Given the description of an element on the screen output the (x, y) to click on. 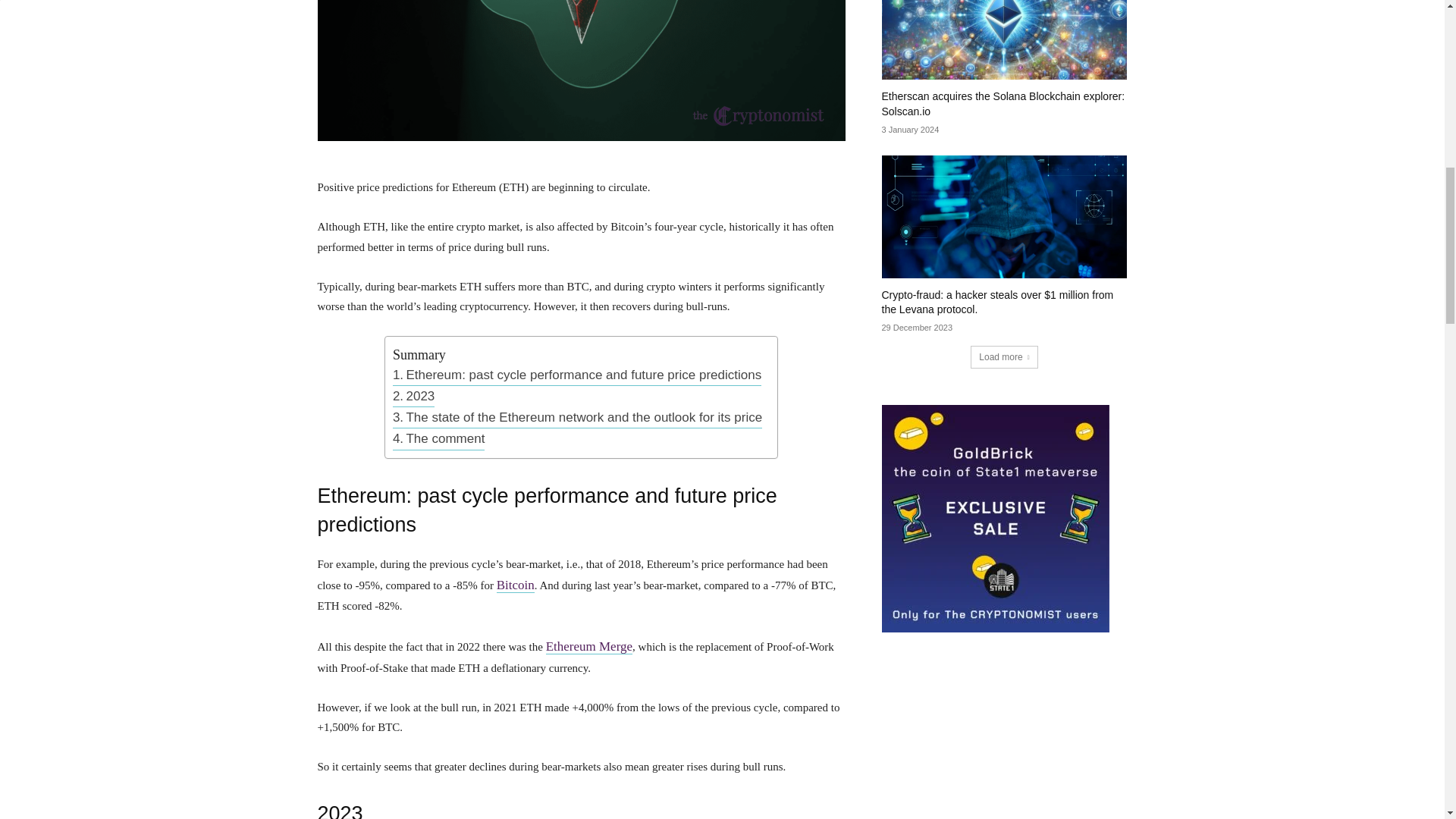
predictions price ethereum (580, 70)
2023 (413, 396)
